Given the description of an element on the screen output the (x, y) to click on. 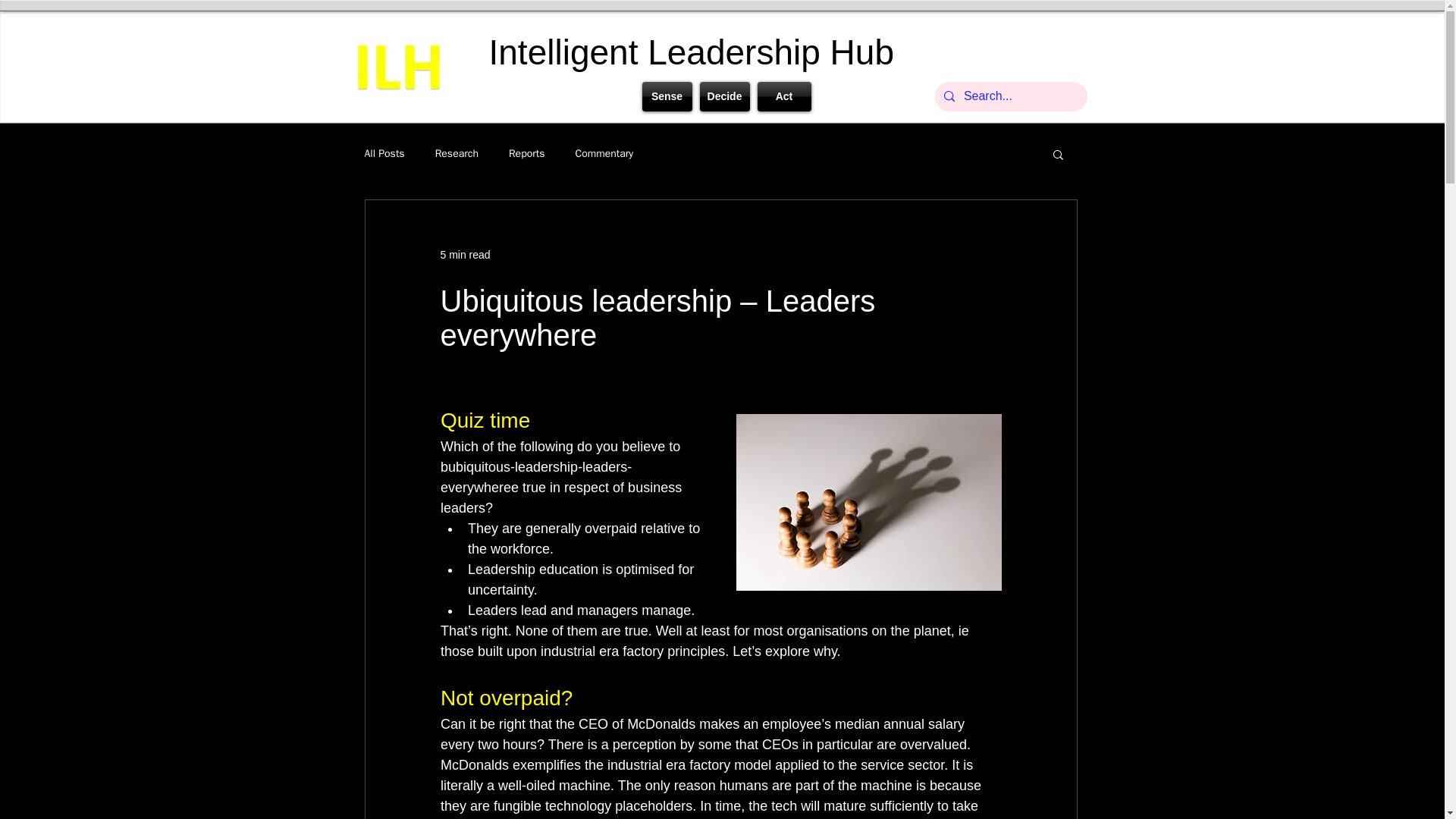
5 min read (464, 254)
Research (457, 153)
All Posts (384, 153)
Intelligent Leadership Hub (690, 52)
Commentary (604, 153)
Reports (526, 153)
